Given the description of an element on the screen output the (x, y) to click on. 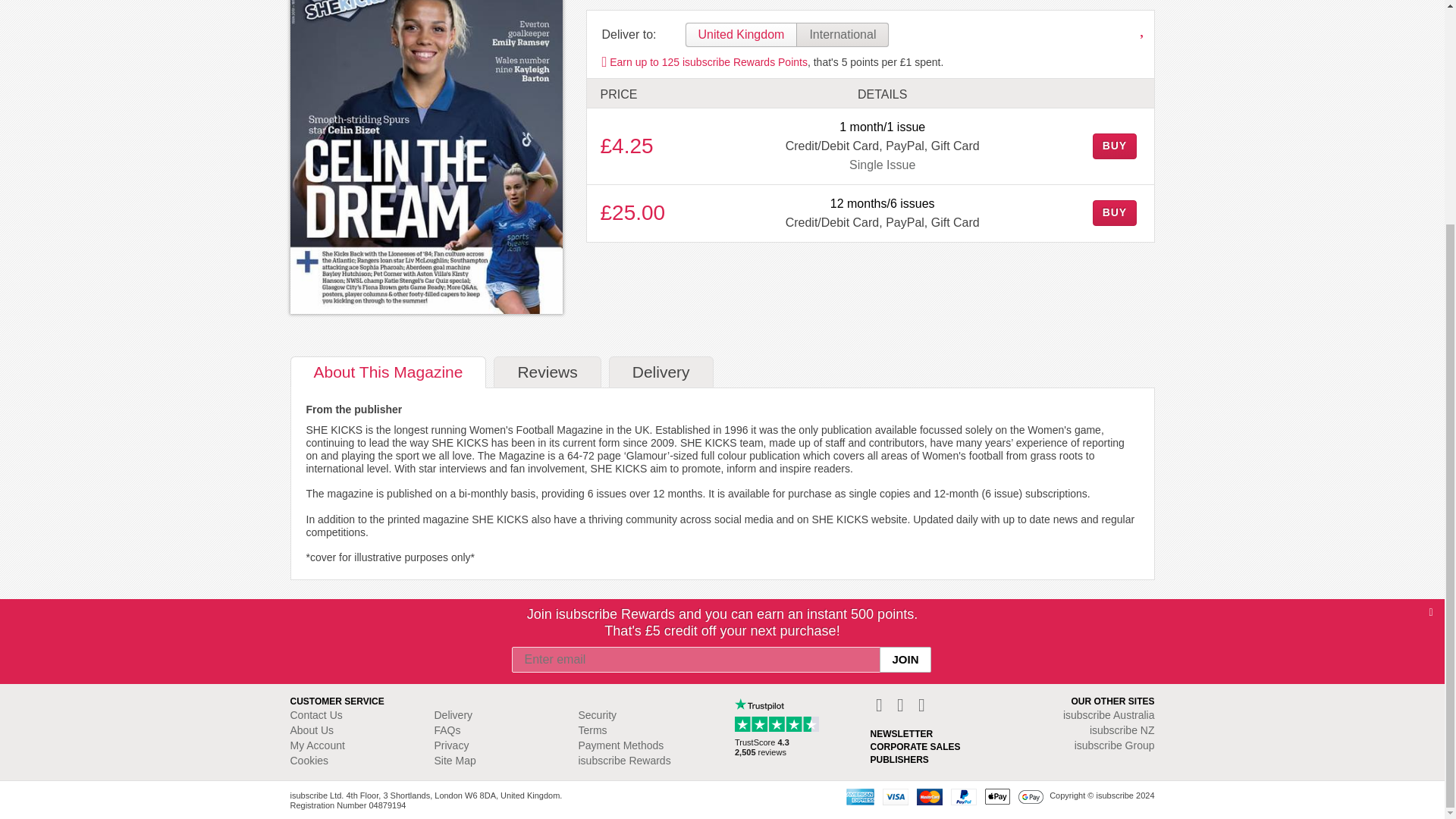
isubscribe Blog (921, 704)
isubscribe on Facebook (880, 704)
Customer reviews powered by Trustpilot (779, 731)
isubscribe on Instagram (901, 704)
Add to Wishlist (1143, 30)
JOIN (904, 495)
International Delivery (842, 34)
She Kicks Magazine subscription (425, 156)
United Kingdom Delivery (741, 34)
Payment Methods (944, 795)
